Given the description of an element on the screen output the (x, y) to click on. 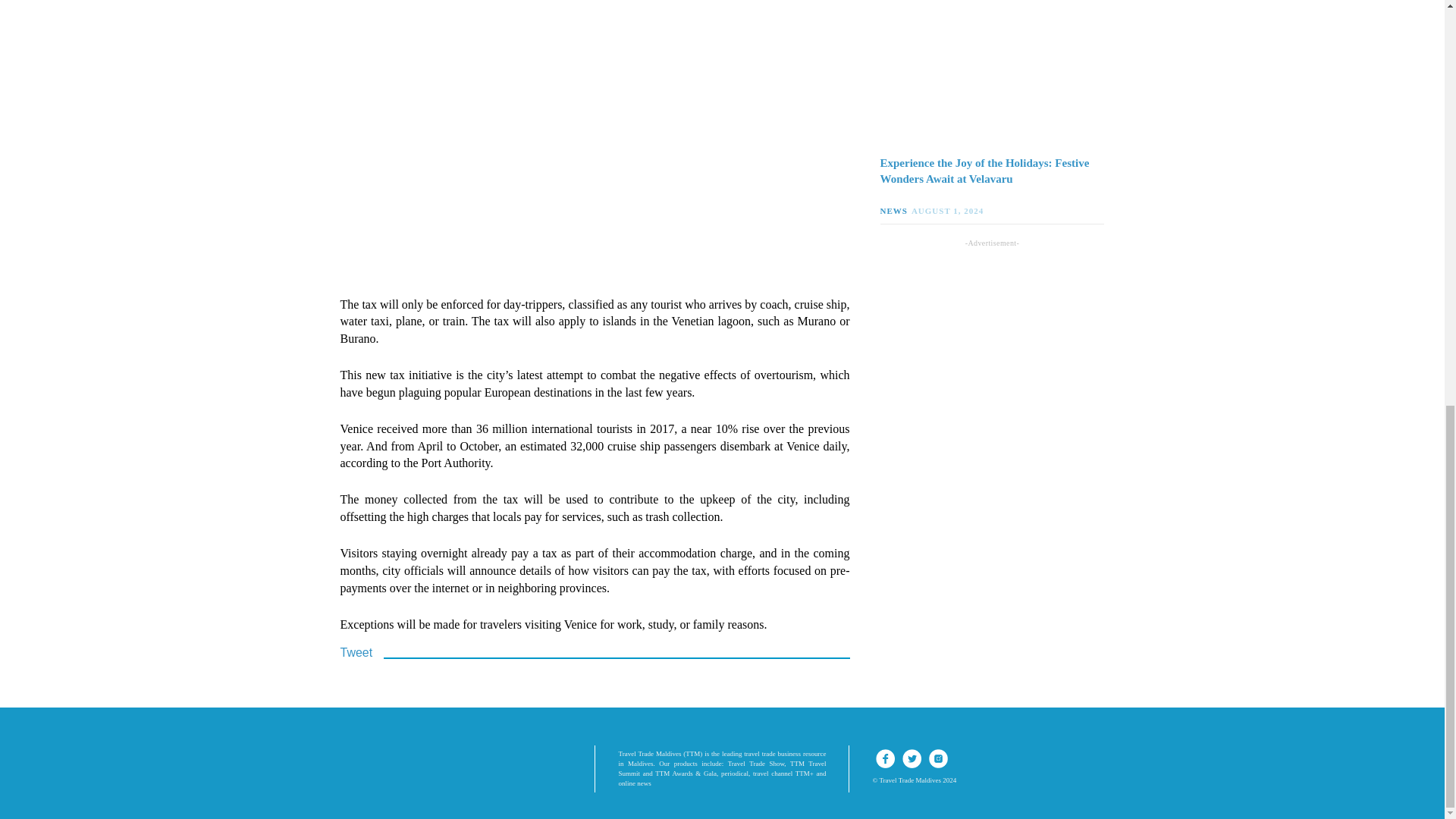
Tweet (355, 652)
NEWS (895, 210)
